Given the description of an element on the screen output the (x, y) to click on. 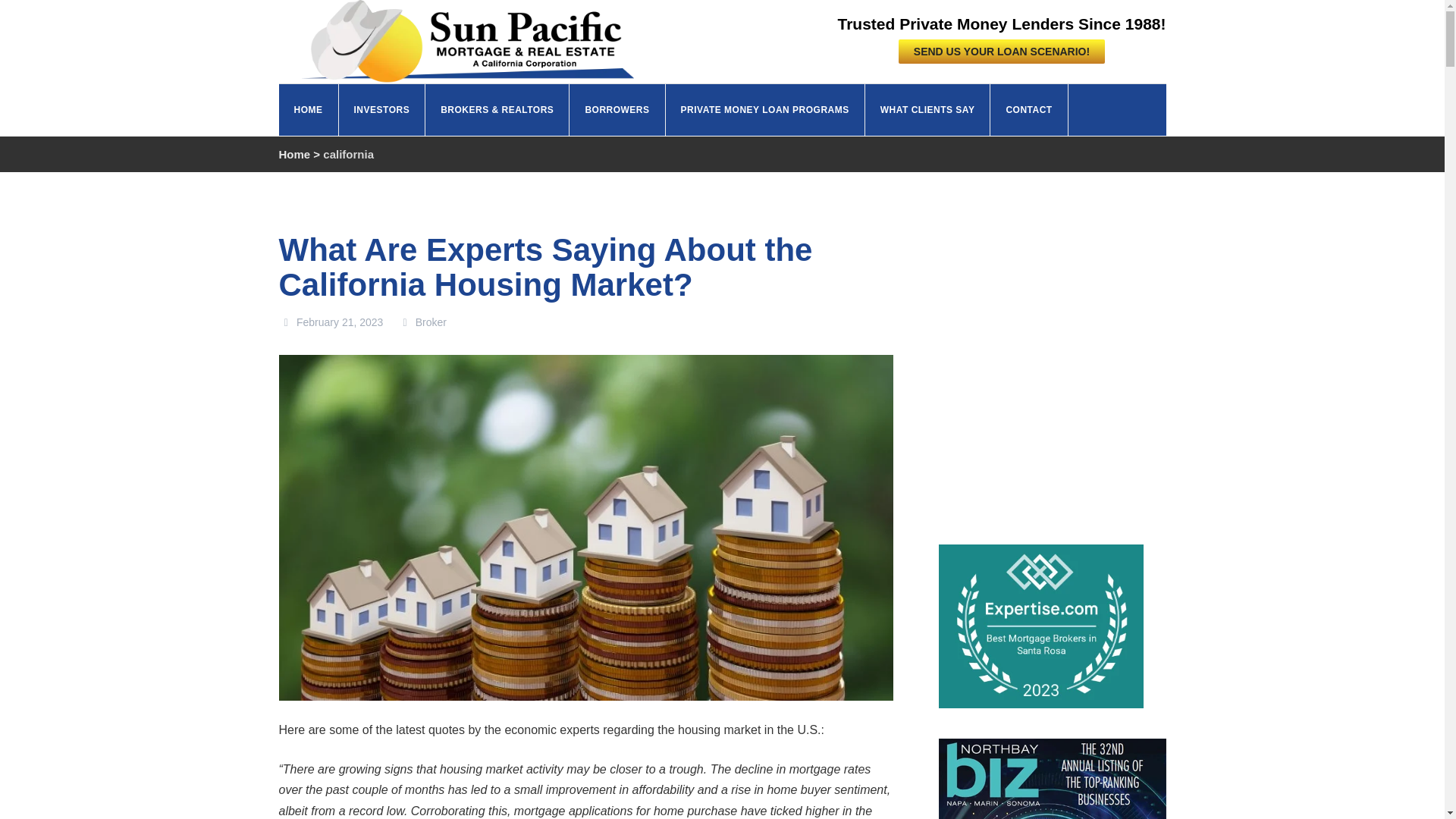
Home (295, 154)
INVESTORS (381, 109)
BORROWERS (617, 109)
CONTACT (1028, 109)
SEND US YOUR LOAN SCENARIO! (1001, 51)
What Are Experts Saying About the California Housing Market? (545, 266)
February 21, 2023 (331, 322)
WHAT CLIENTS SAY (927, 109)
PRIVATE MONEY LOAN PROGRAMS (764, 109)
